Given the description of an element on the screen output the (x, y) to click on. 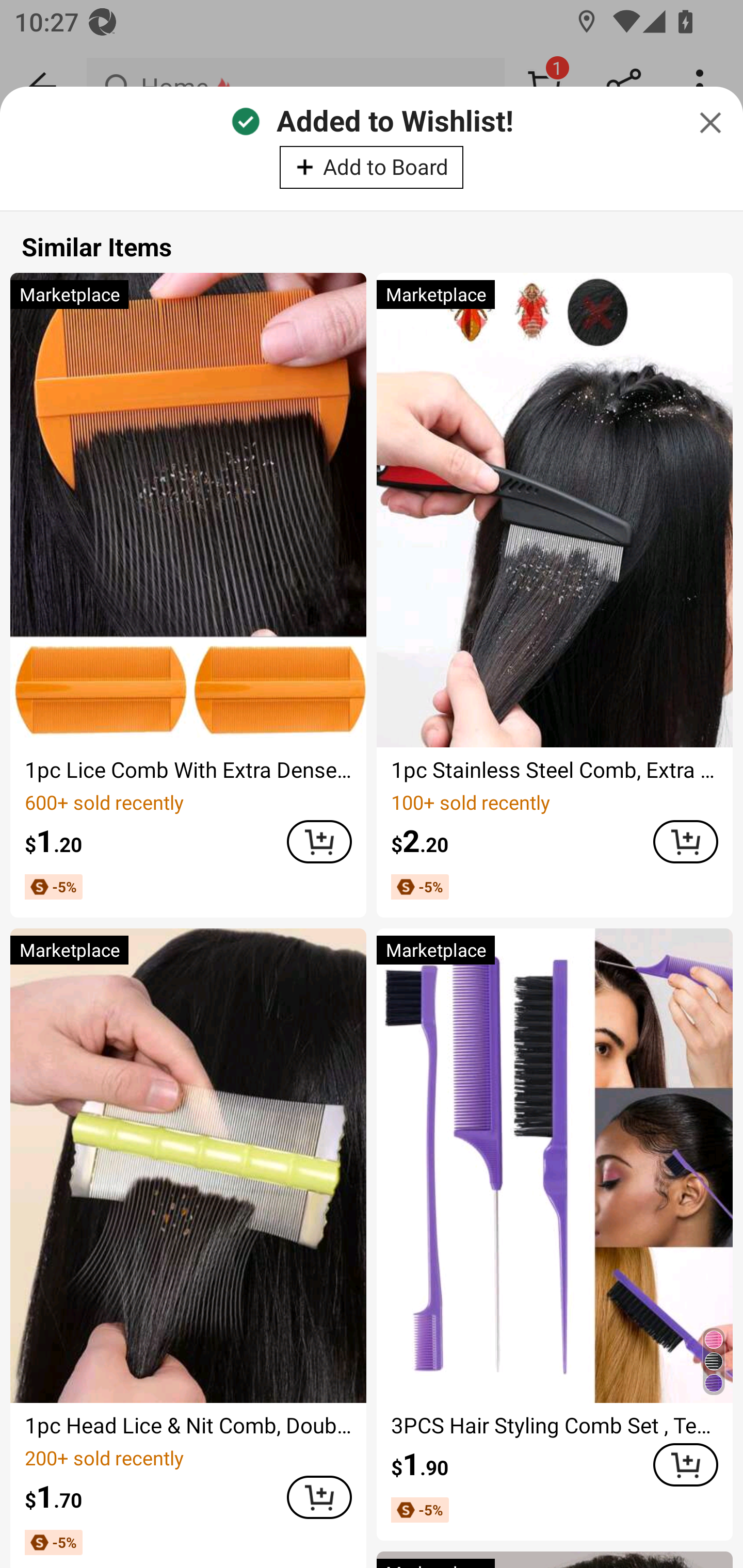
Add to Board (371, 166)
ADD TO CART (319, 841)
ADD TO CART (685, 841)
ADD TO CART (685, 1464)
ADD TO CART (319, 1497)
